Given the description of an element on the screen output the (x, y) to click on. 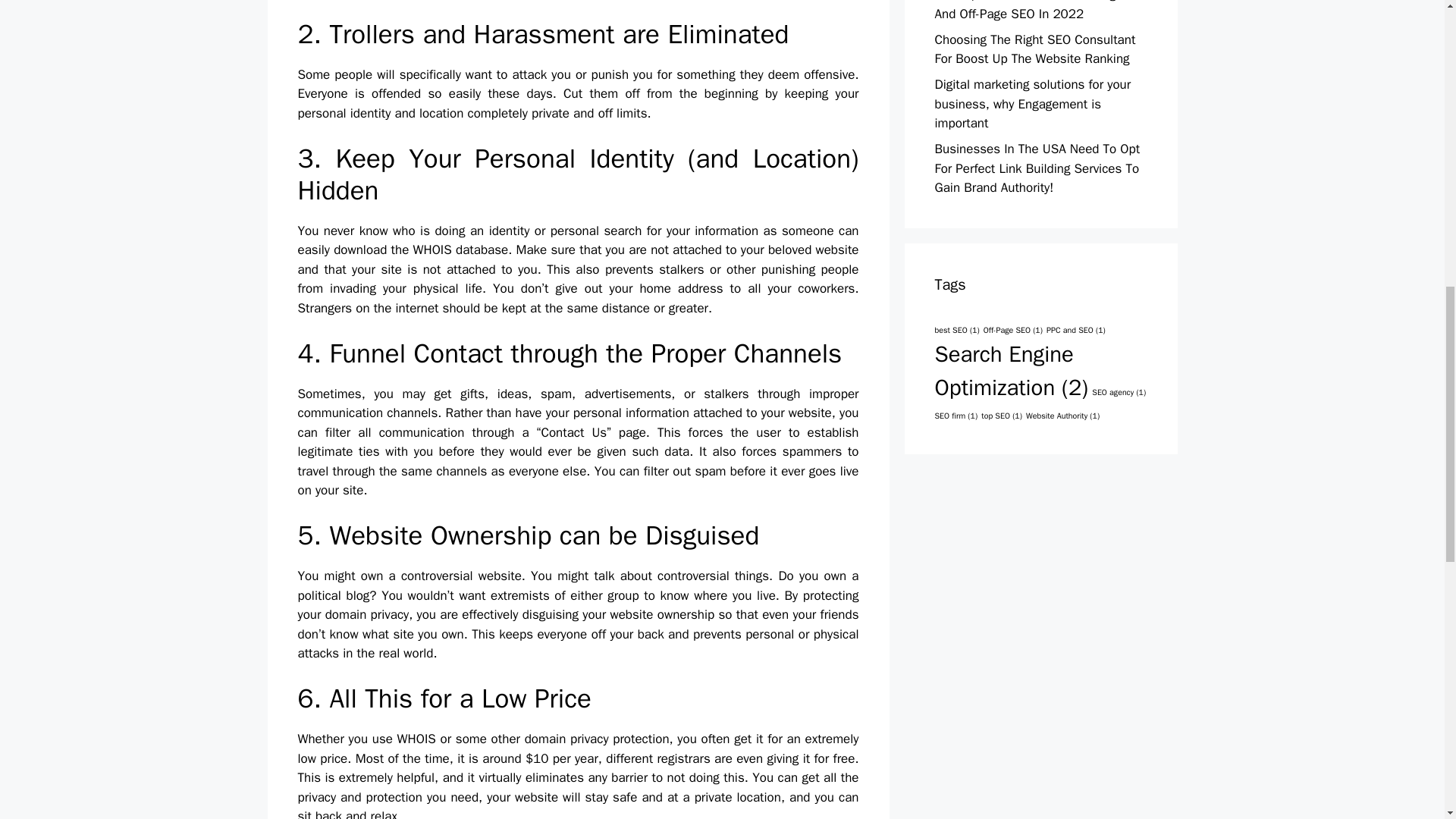
A Complete Guide To Do On-Page And Off-Page SEO In 2022 (1028, 11)
download the WHOIS database (420, 249)
giving it for free (811, 758)
